Given the description of an element on the screen output the (x, y) to click on. 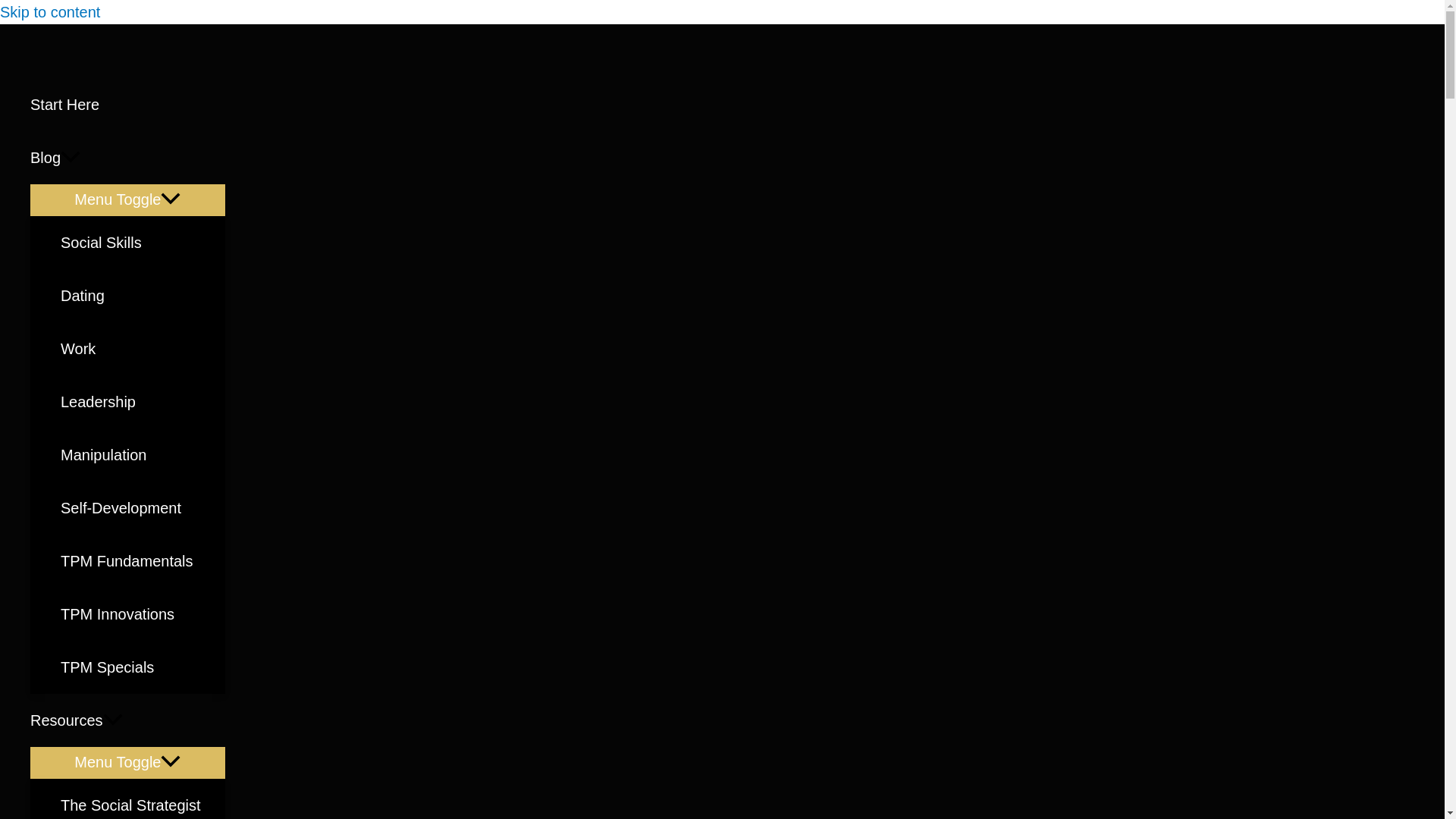
TPM Specials (143, 666)
Start Here (127, 104)
The Social Strategist (143, 798)
Menu Toggle (127, 761)
Manipulation (143, 454)
Work (143, 348)
Self-Development (143, 507)
TPM Innovations (143, 614)
Skip to content (50, 12)
Menu Toggle (127, 199)
